Given the description of an element on the screen output the (x, y) to click on. 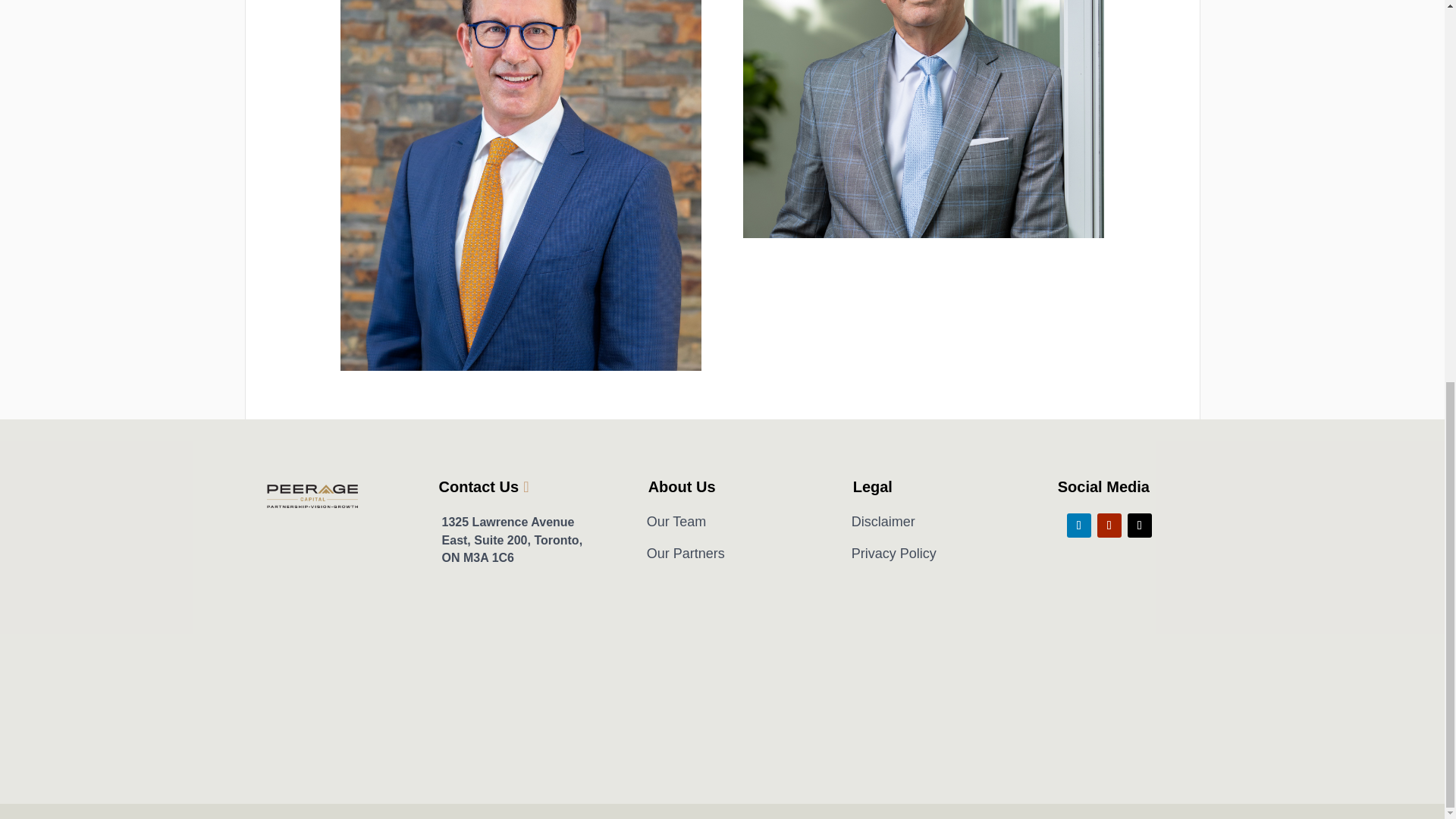
Legal (871, 486)
About Us (681, 486)
Disclaimer (883, 521)
Follow on X (1138, 525)
Social Media (1103, 486)
Privacy Policy (893, 553)
Our Partners (685, 553)
Follow on LinkedIn (1078, 525)
Our Team (676, 521)
Follow on Youtube (1109, 525)
